Given the description of an element on the screen output the (x, y) to click on. 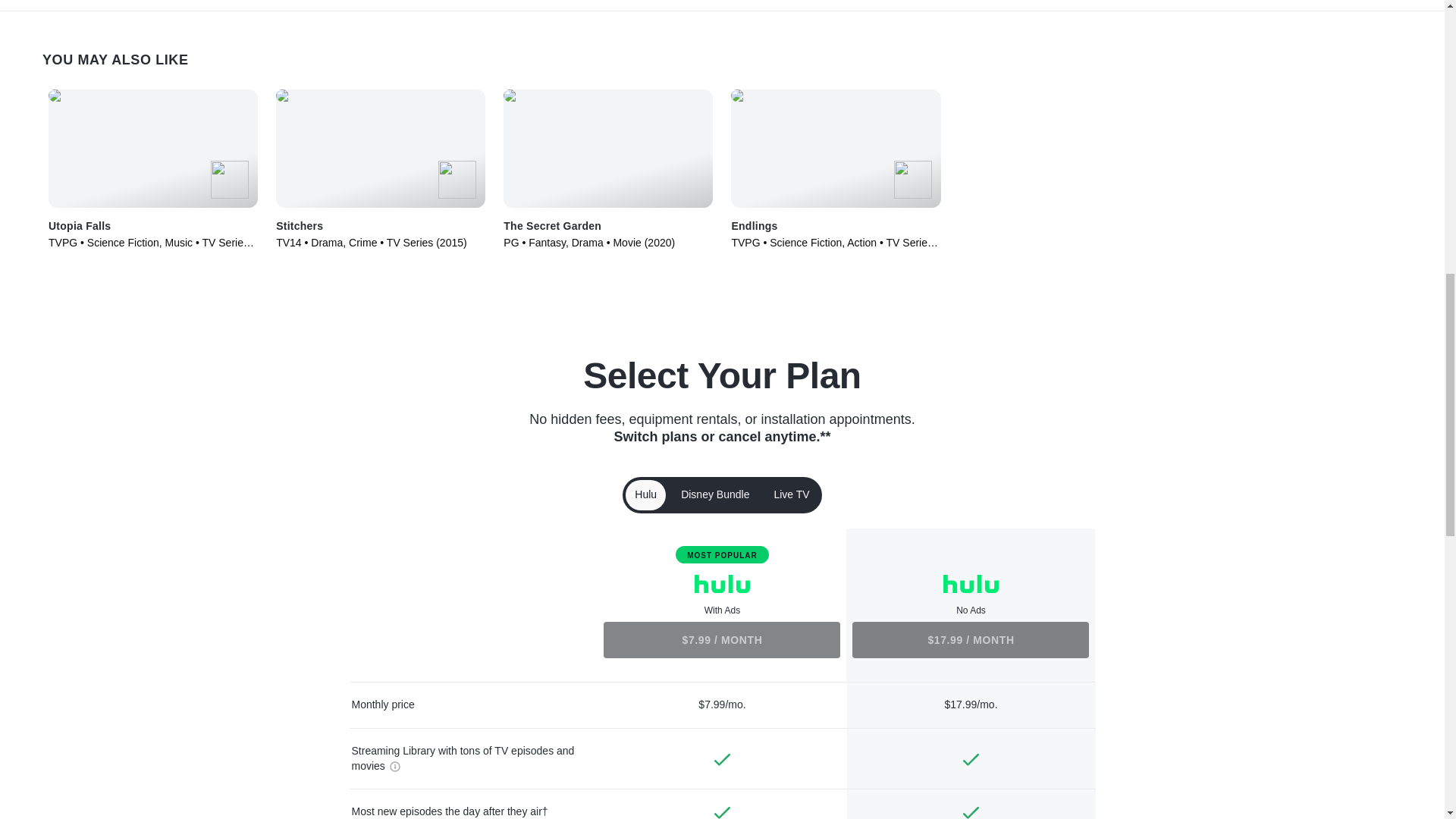
Streaming Library with tons of TV episodes and movies info (392, 765)
